Given the description of an element on the screen output the (x, y) to click on. 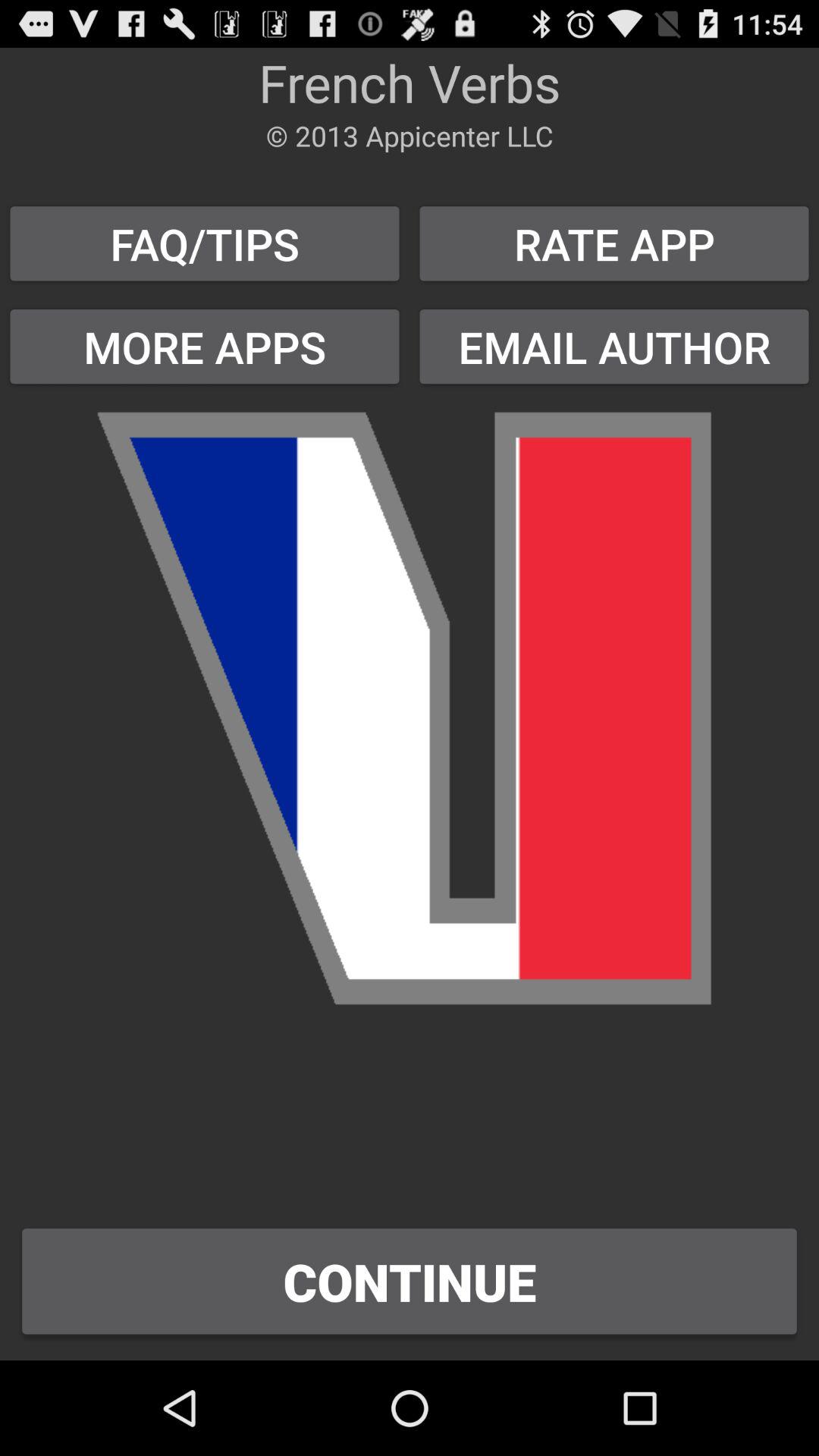
flip to the rate app button (613, 243)
